Given the description of an element on the screen output the (x, y) to click on. 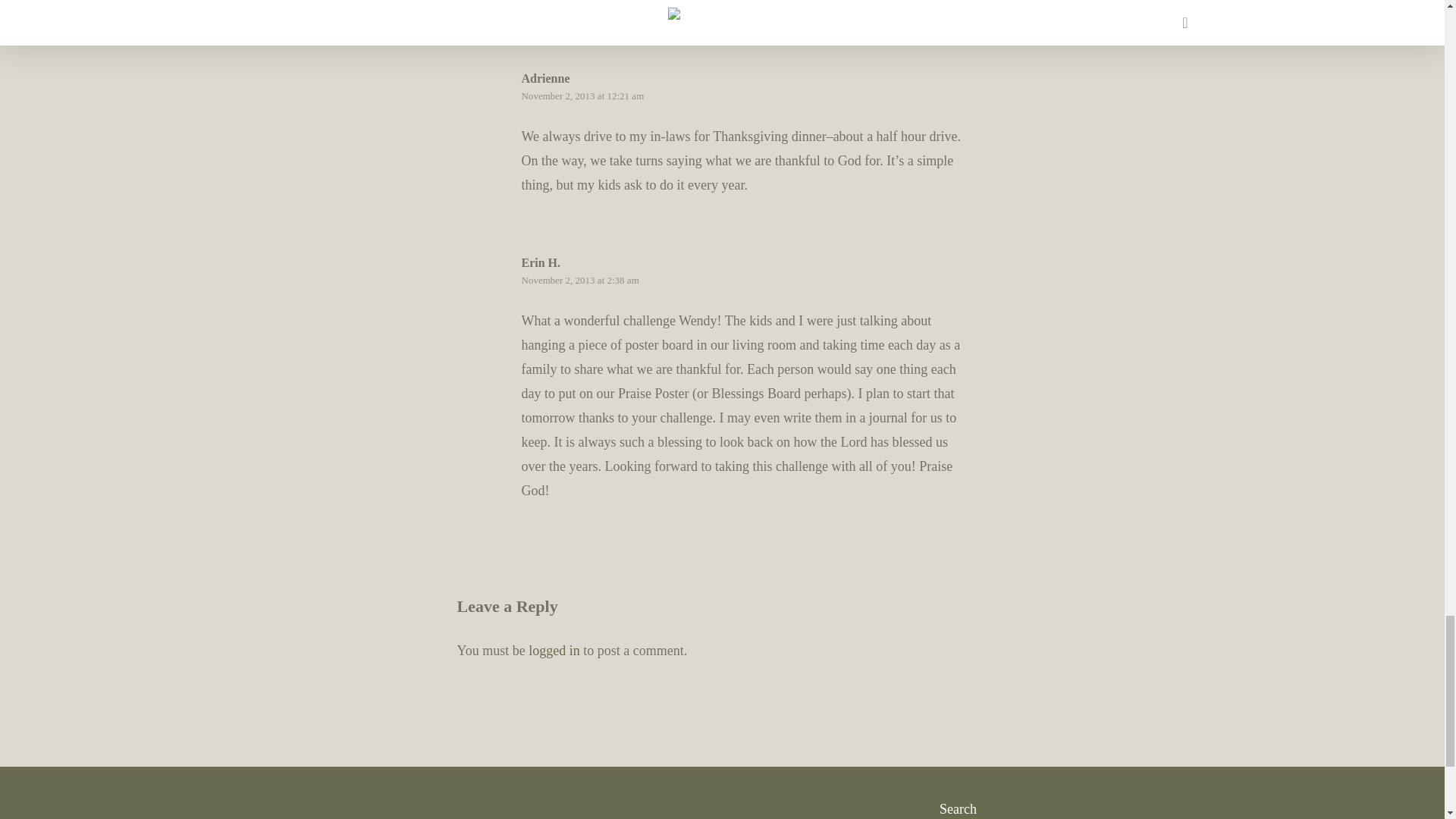
logged in (553, 650)
November 2, 2013 at 2:38 am (580, 279)
November 2, 2013 at 12:21 am (583, 95)
